Given the description of an element on the screen output the (x, y) to click on. 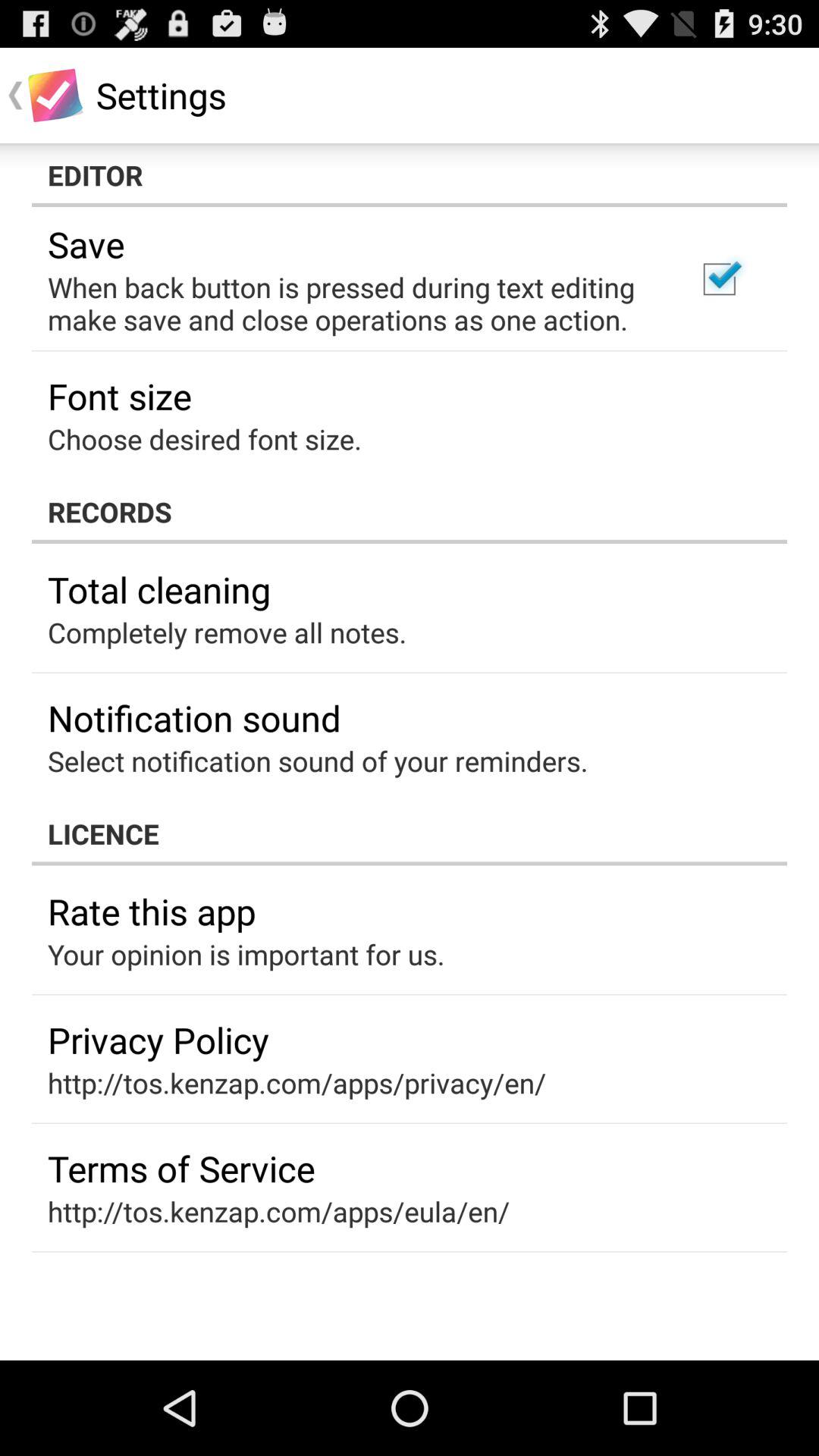
jump until records (409, 511)
